Given the description of an element on the screen output the (x, y) to click on. 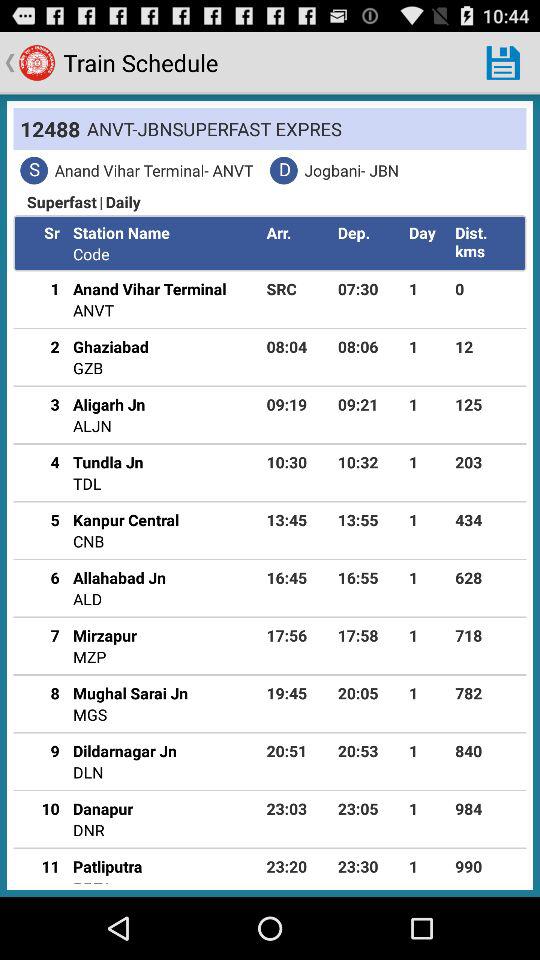
click the icon next to the 23:20 app (92, 880)
